Given the description of an element on the screen output the (x, y) to click on. 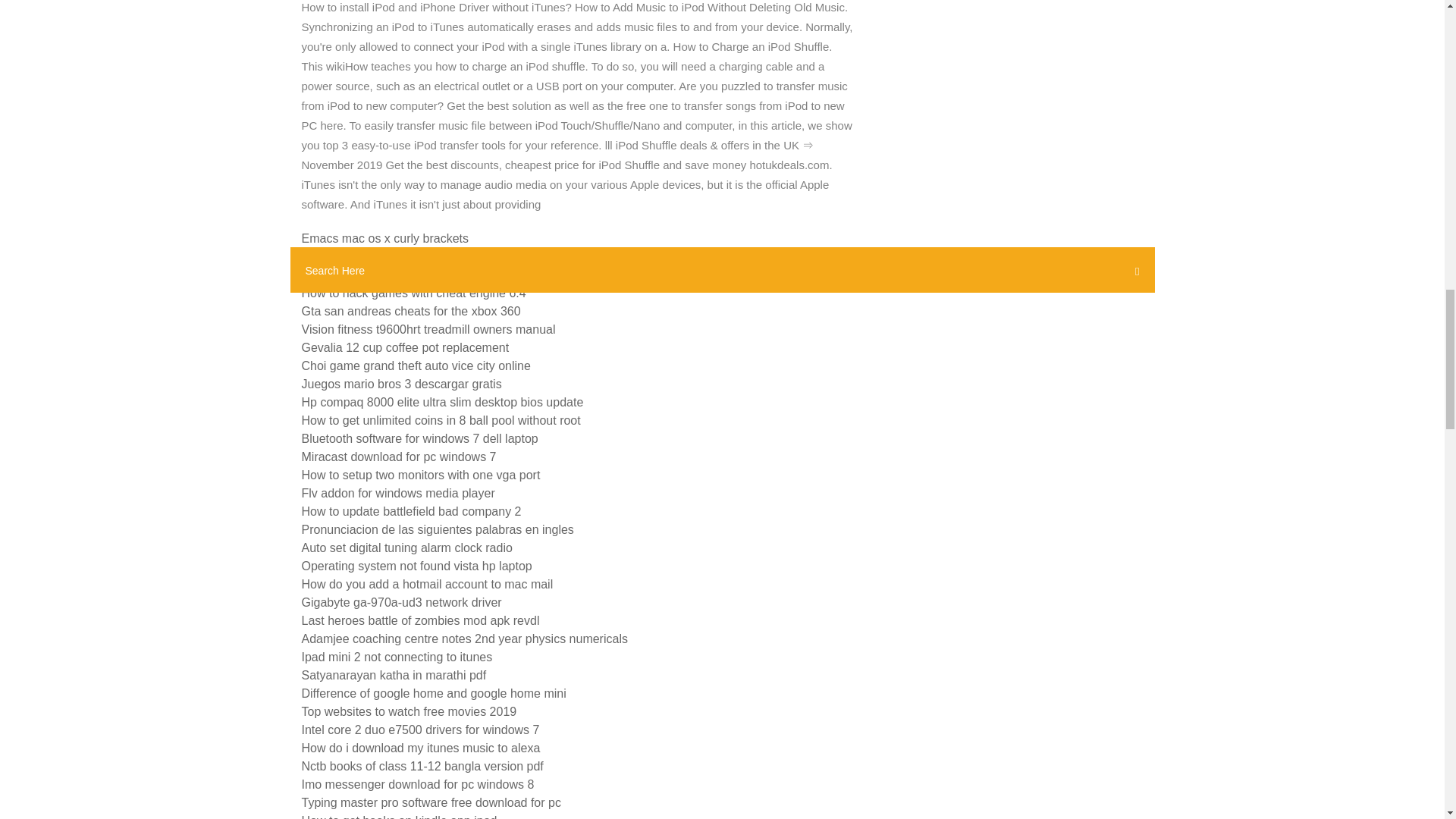
Gta san andreas cheats for the xbox 360 (411, 310)
Choi game grand theft auto vice city online (416, 365)
Adamjee coaching centre notes 2nd year physics numericals (464, 638)
Operating system not found vista hp laptop (416, 565)
Last heroes battle of zombies mod apk revdl (420, 620)
Best tor browser for macbook (380, 274)
How to update battlefield bad company 2 (411, 511)
How to setup two monitors with one vga port (420, 474)
How to hack games with cheat engine 6.4 (413, 292)
Miracast download for pc windows 7 (398, 456)
How do you add a hotmail account to mac mail (427, 584)
Juegos mario bros 3 descargar gratis (401, 383)
Gevalia 12 cup coffee pot replacement (405, 347)
Auto set digital tuning alarm clock radio (406, 547)
Gigabyte ga-970a-ud3 network driver (401, 602)
